Given the description of an element on the screen output the (x, y) to click on. 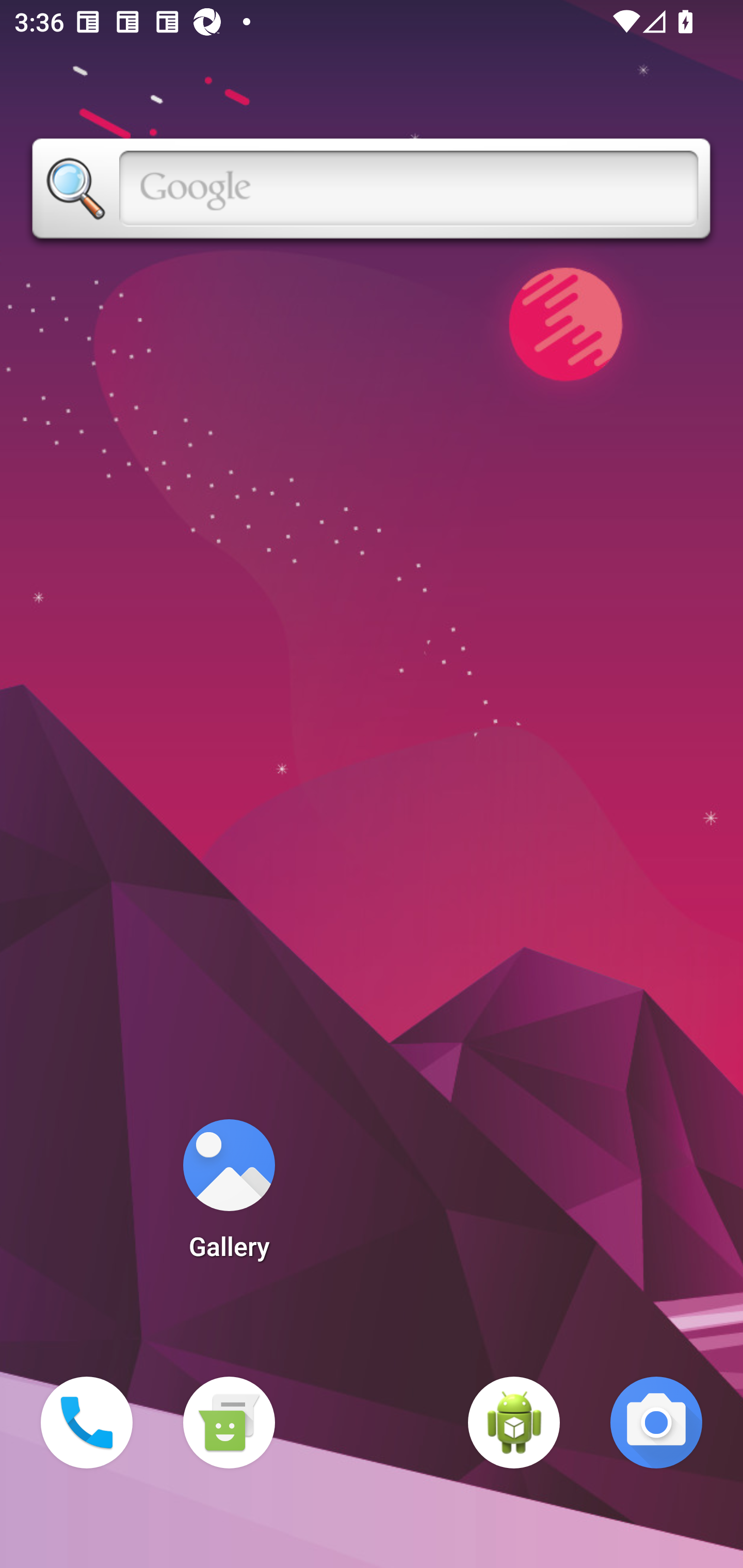
Gallery (228, 1195)
Phone (86, 1422)
Messaging (228, 1422)
WebView Browser Tester (513, 1422)
Camera (656, 1422)
